Given the description of an element on the screen output the (x, y) to click on. 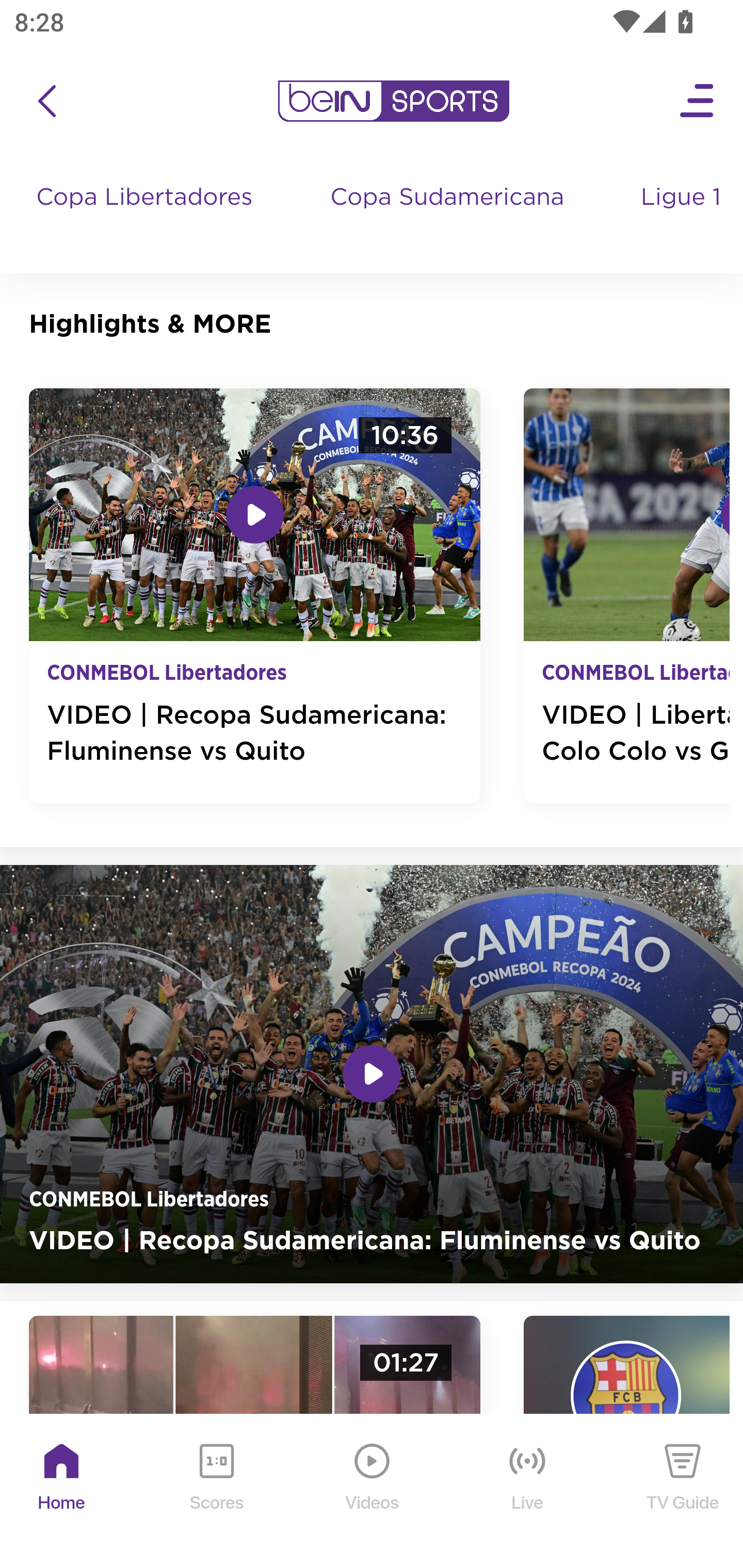
en-us?platform=mobile_android bein logo (392, 101)
icon back (46, 101)
Open Menu Icon (697, 101)
Copa Libertadores (146, 216)
Copa Sudamericana (448, 216)
Ligue 1 (682, 216)
Home Home Icon Home (61, 1491)
Scores Scores Icon Scores (216, 1491)
Videos Videos Icon Videos (372, 1491)
TV Guide TV Guide Icon TV Guide (682, 1491)
